Given the description of an element on the screen output the (x, y) to click on. 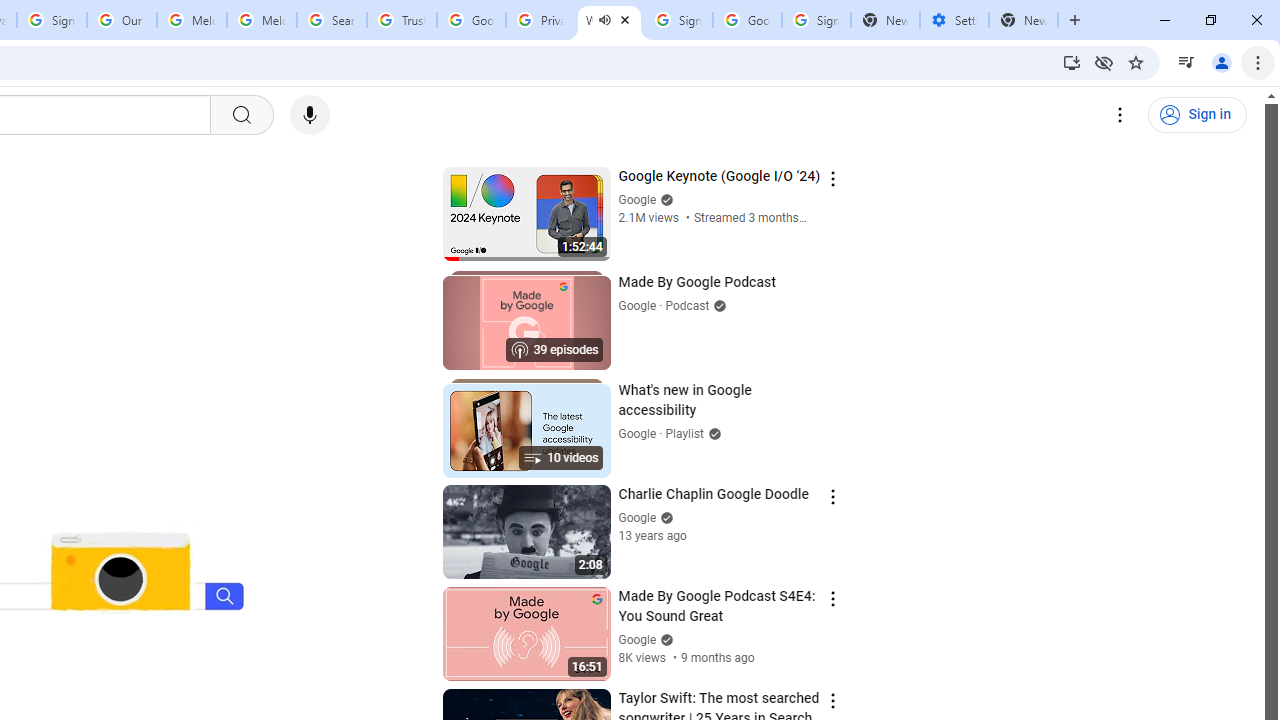
Trusted Information and Content - Google Safety Center (401, 20)
New Tab (1023, 20)
